Given the description of an element on the screen output the (x, y) to click on. 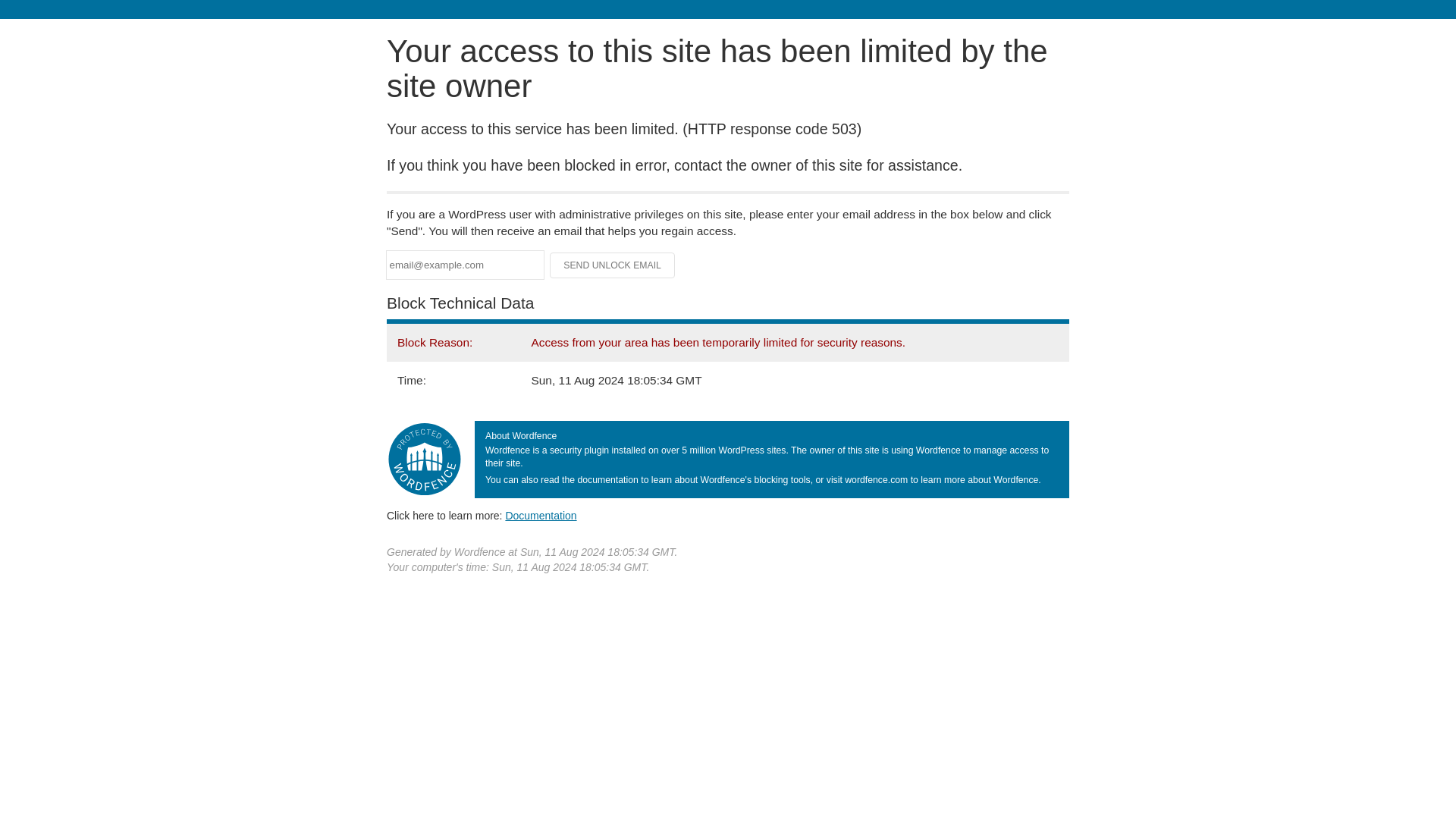
Send Unlock Email (612, 265)
Send Unlock Email (612, 265)
Documentation (540, 515)
